Given the description of an element on the screen output the (x, y) to click on. 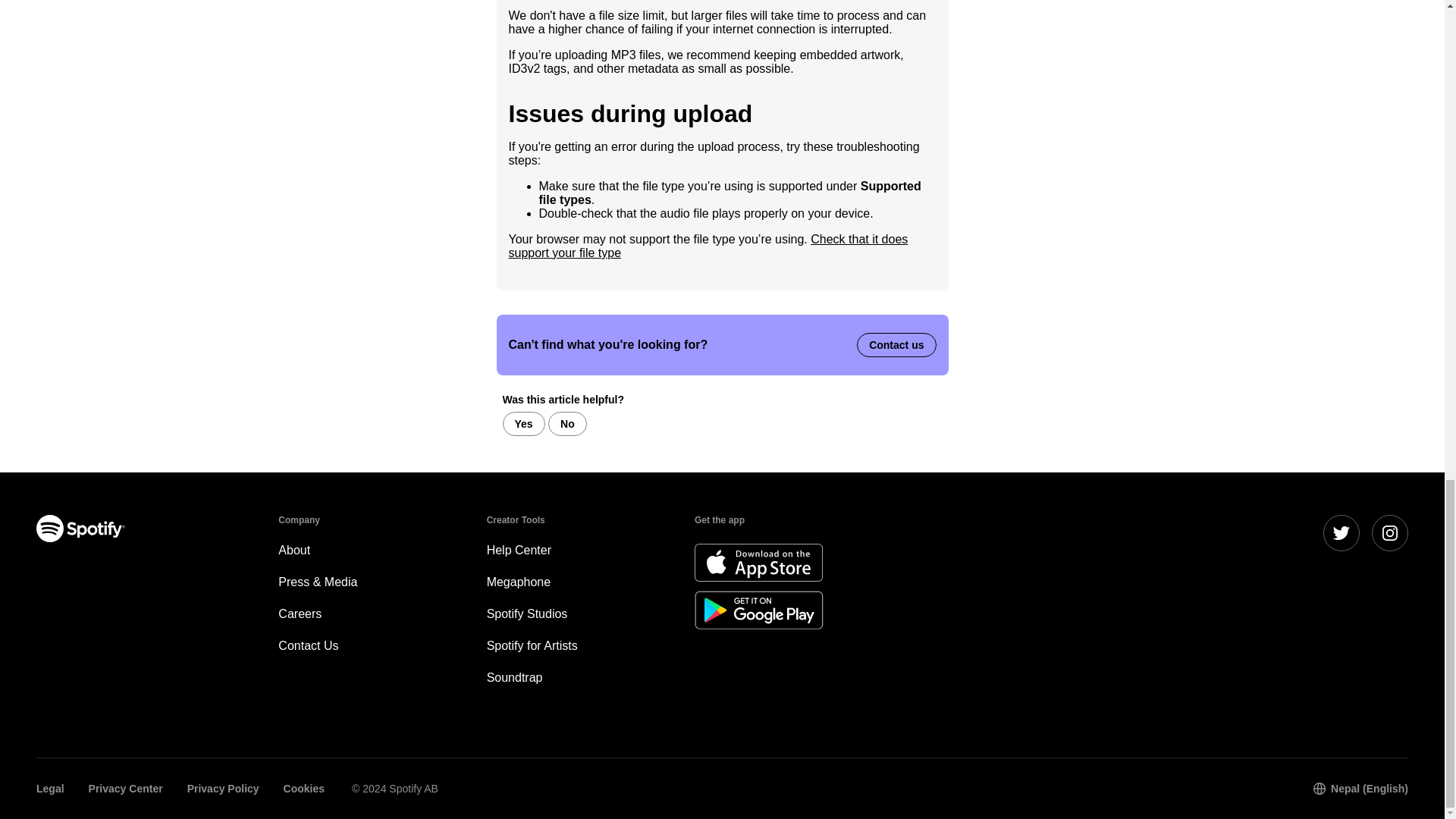
Check that it does support your file type (707, 245)
Contact us (896, 344)
Spotify (80, 528)
Yes (523, 423)
